Given the description of an element on the screen output the (x, y) to click on. 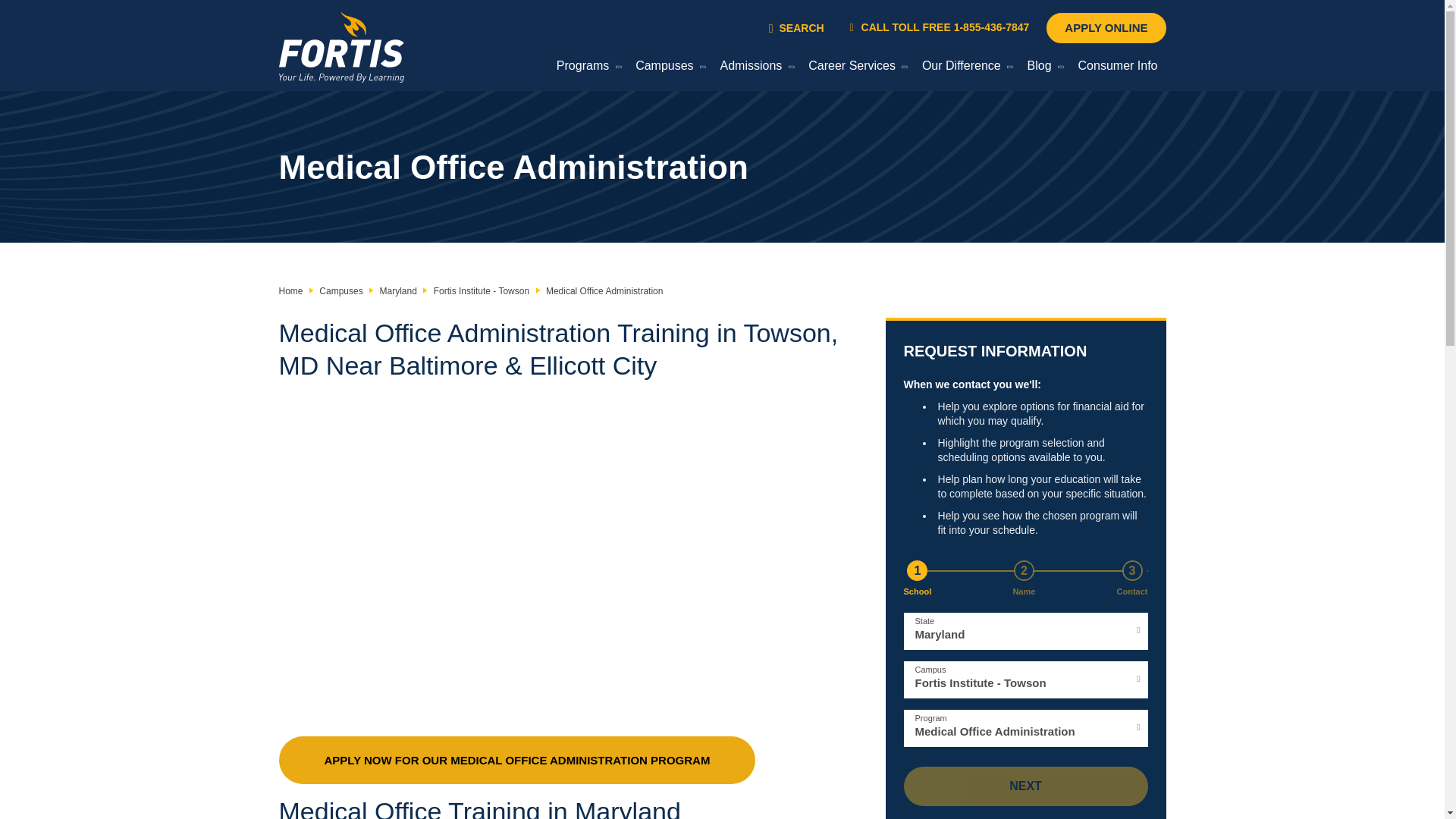
Campuses (667, 67)
APPLY ONLINE (1106, 28)
CALL TOLL FREE 1-855-436-7847 (939, 27)
Programs (585, 67)
